Given the description of an element on the screen output the (x, y) to click on. 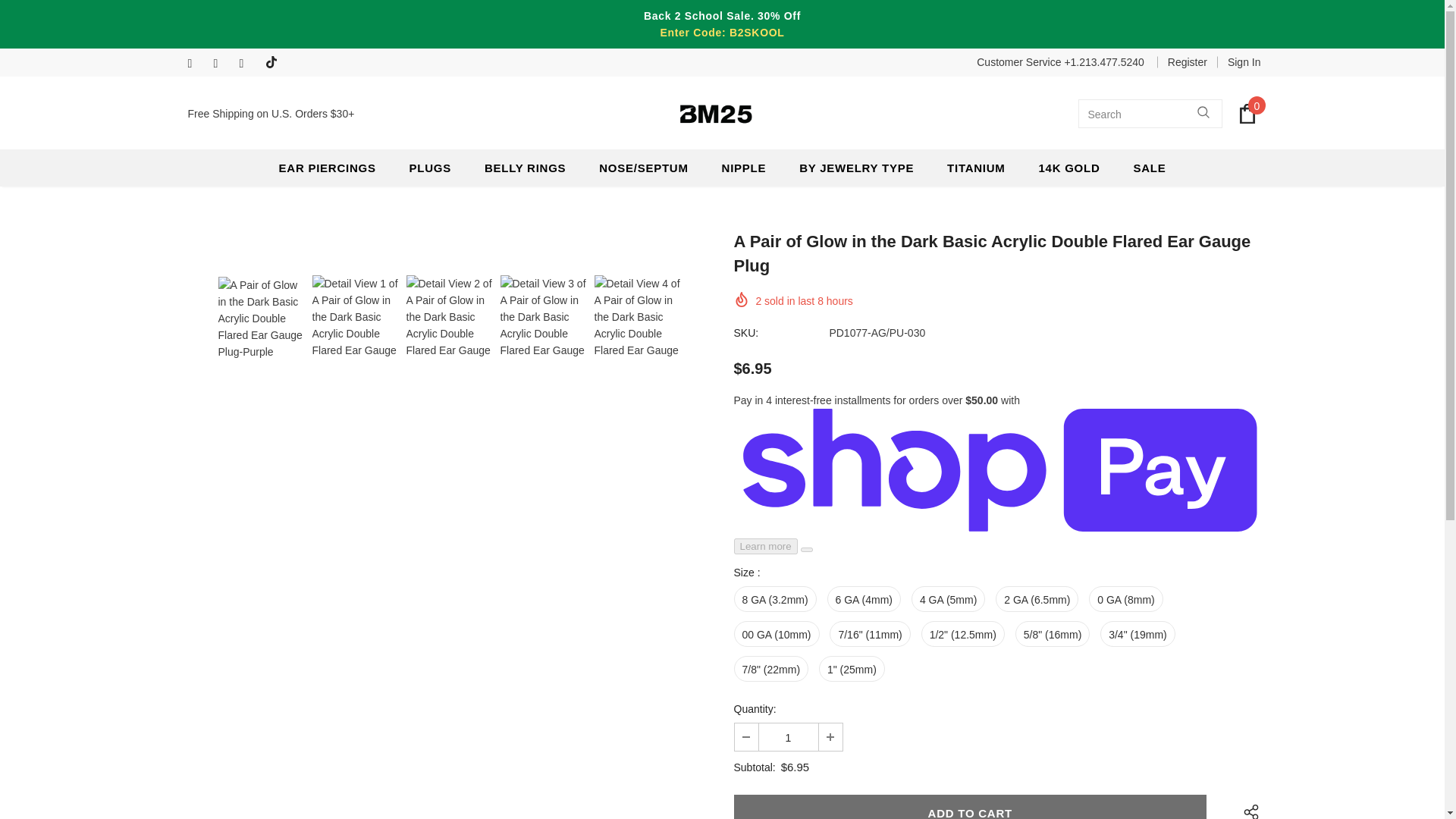
TITANIUM (976, 167)
Register (1187, 62)
Facebook (196, 63)
NIPPLE (744, 167)
Sign In (1238, 62)
BY JEWELRY TYPE (856, 167)
1 (787, 737)
Logo (716, 113)
BELLY RINGS (525, 167)
PLUGS (430, 167)
